Given the description of an element on the screen output the (x, y) to click on. 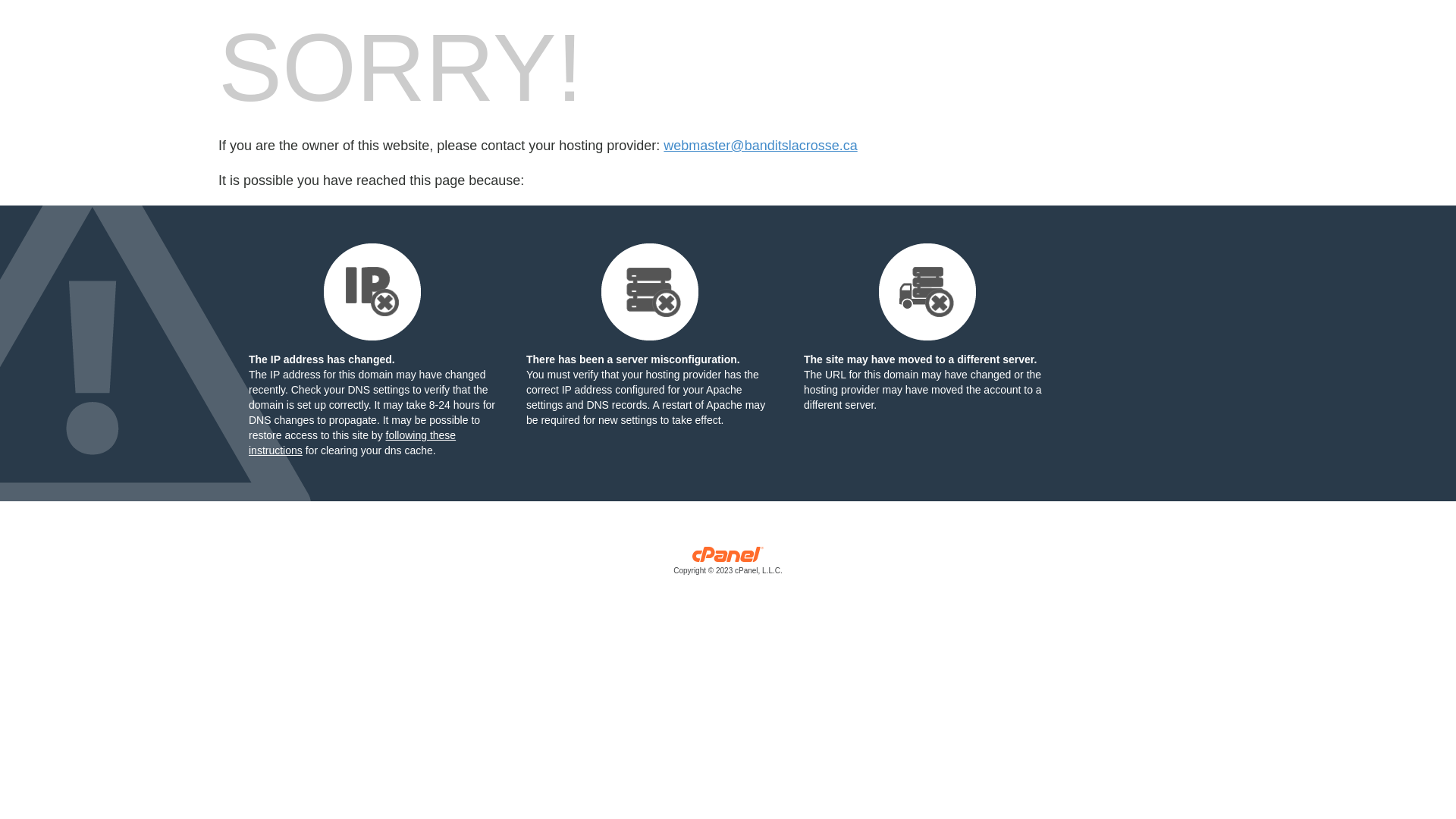
following these instructions Element type: text (351, 442)
webmaster@banditslacrosse.ca Element type: text (759, 145)
